Given the description of an element on the screen output the (x, y) to click on. 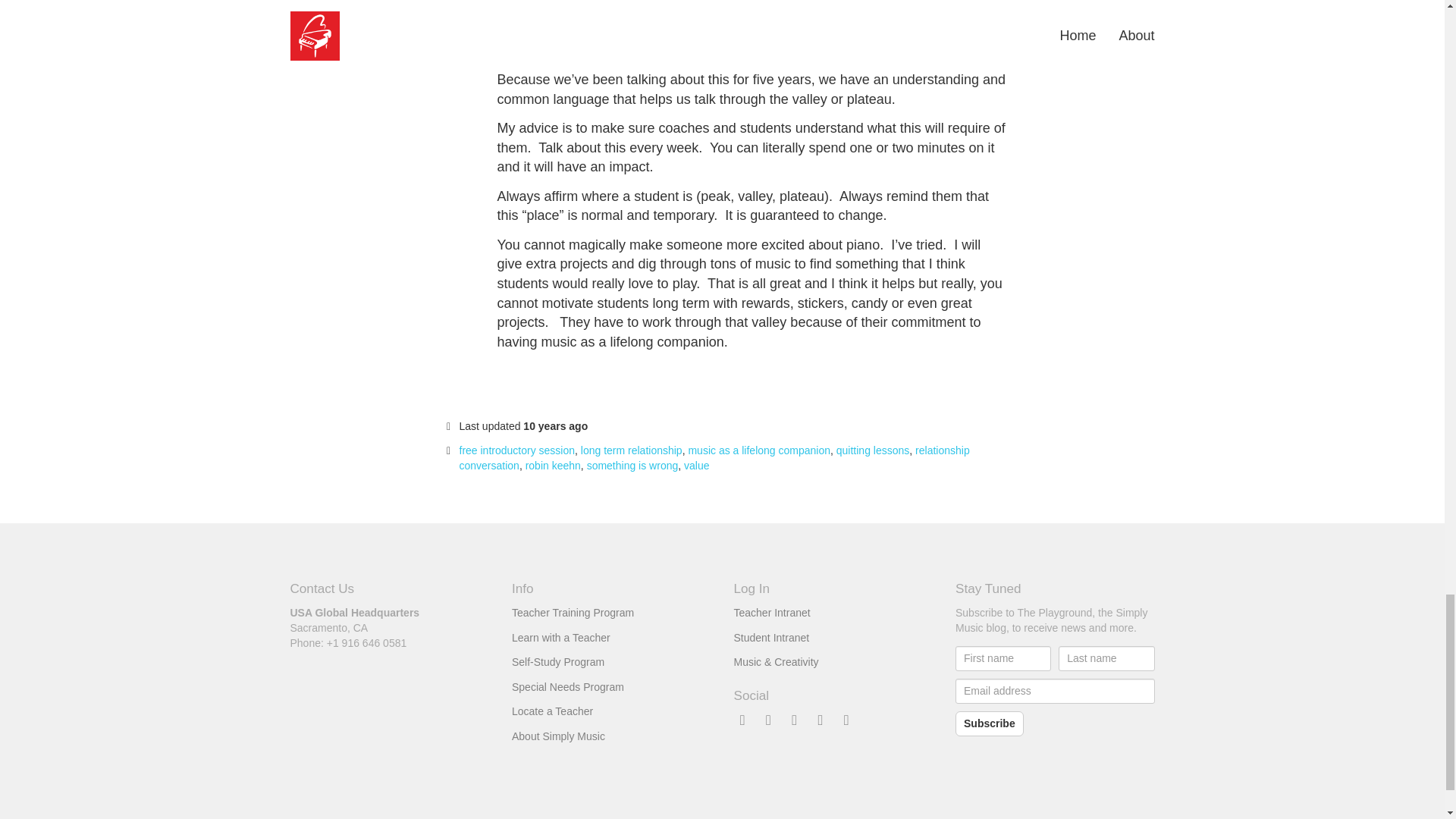
robin keehn (552, 465)
free introductory session (517, 450)
Student Intranet (771, 637)
Special Needs Program (568, 686)
Log in to your Simply Music Teacher Intranet account (771, 612)
something is wrong (632, 465)
Learn with a Teacher (561, 637)
About Simply Music (558, 736)
Locate a Teacher (552, 711)
long term relationship (631, 450)
Teacher Intranet (771, 612)
Learn more about our self-study program (558, 662)
Subscribe (989, 723)
value (696, 465)
Learn more about our special needs program (568, 686)
